Given the description of an element on the screen output the (x, y) to click on. 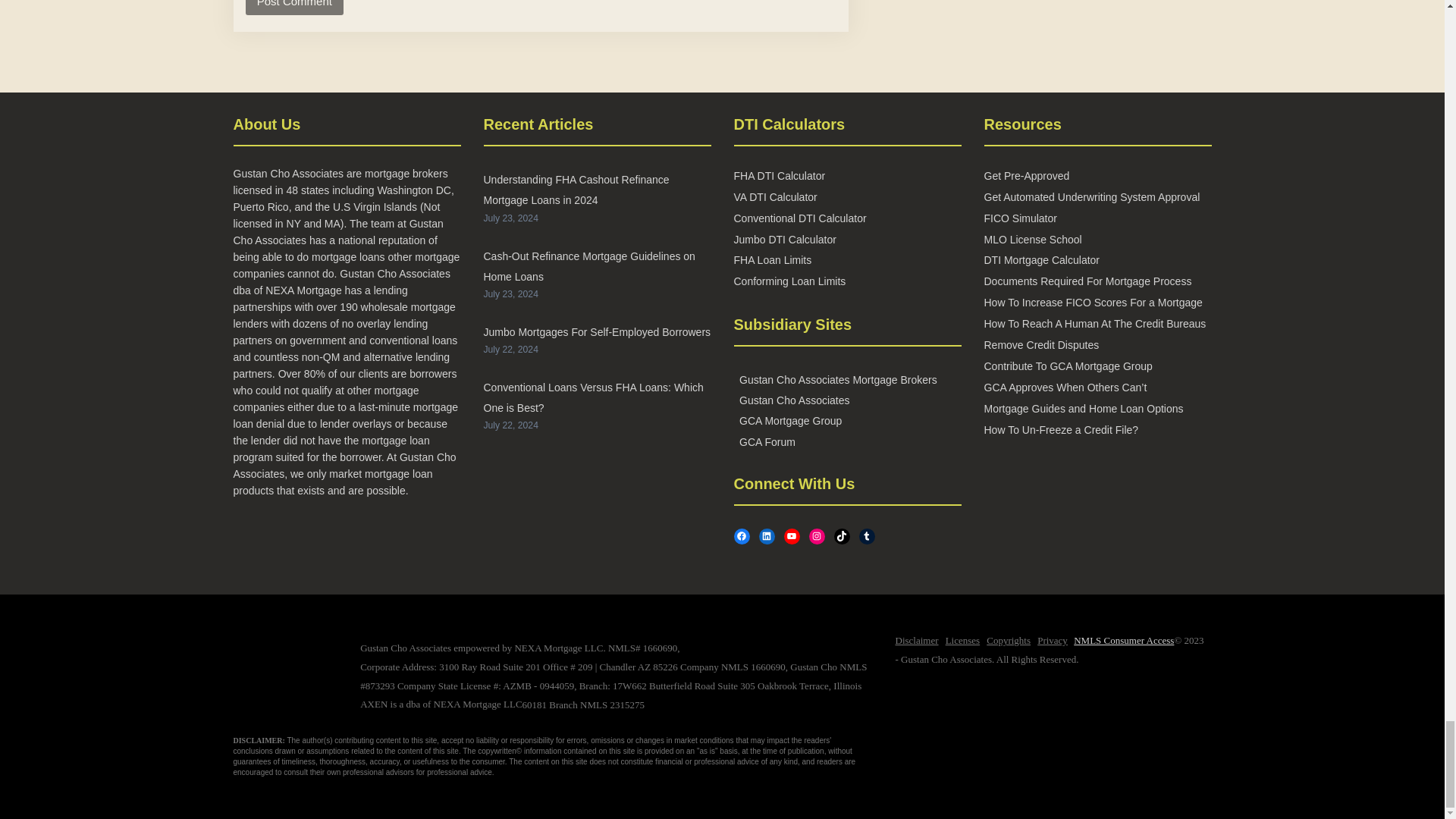
Post Comment (294, 7)
